Given the description of an element on the screen output the (x, y) to click on. 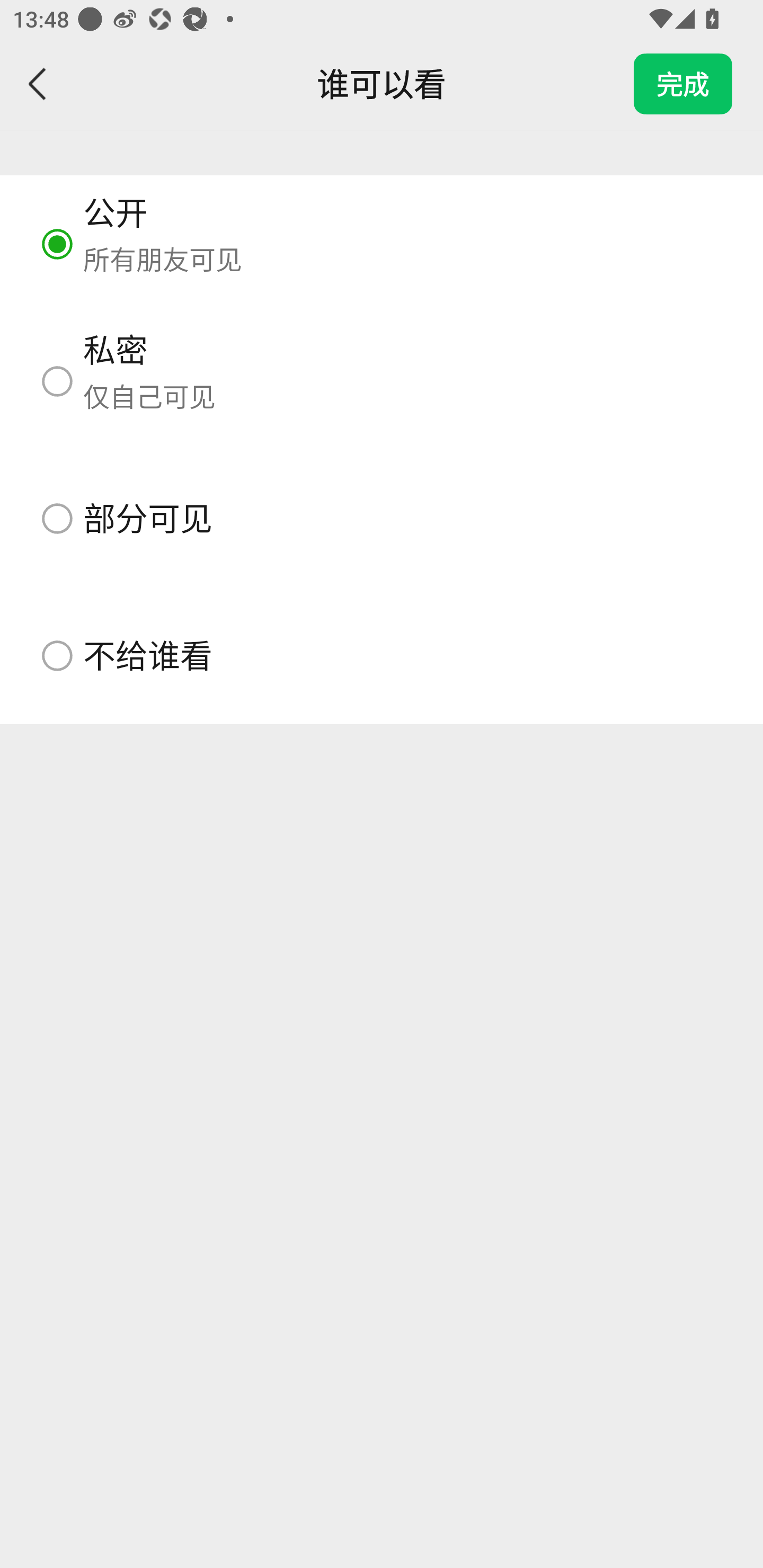
返回 (38, 83)
完成 (683, 83)
已选中 公开 所有朋友可见 (381, 243)
已选中 私密 仅自己可见 (381, 381)
已选中 部分可见 (381, 518)
不给谁看 (381, 655)
